Given the description of an element on the screen output the (x, y) to click on. 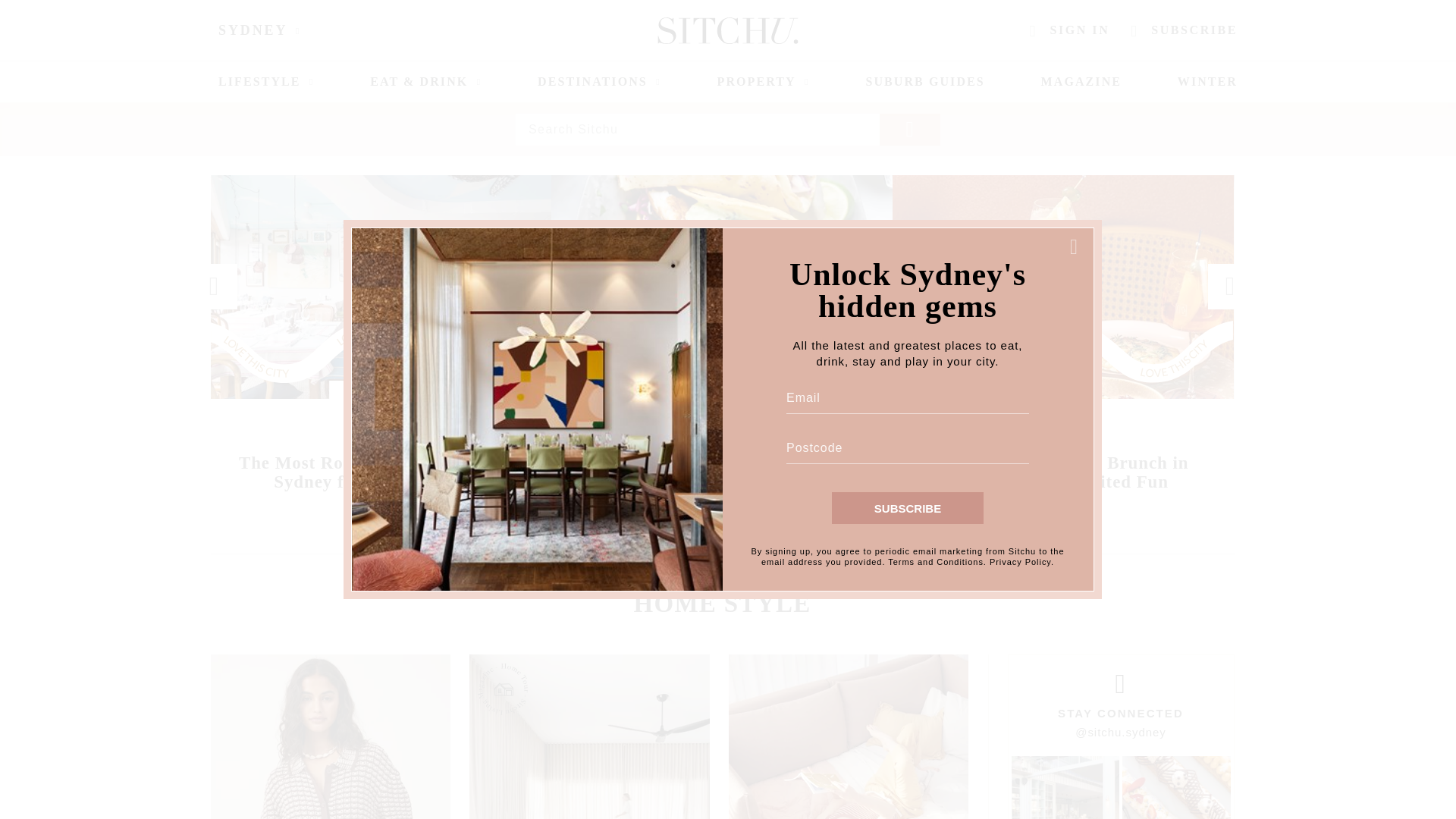
MAGAZINE (1081, 81)
DESTINATIONS (599, 81)
LIFESTYLE (266, 81)
WINTER (1207, 81)
SUBURB GUIDES (924, 81)
SUBSCRIBE (907, 508)
PROPERTY (763, 81)
